Given the description of an element on the screen output the (x, y) to click on. 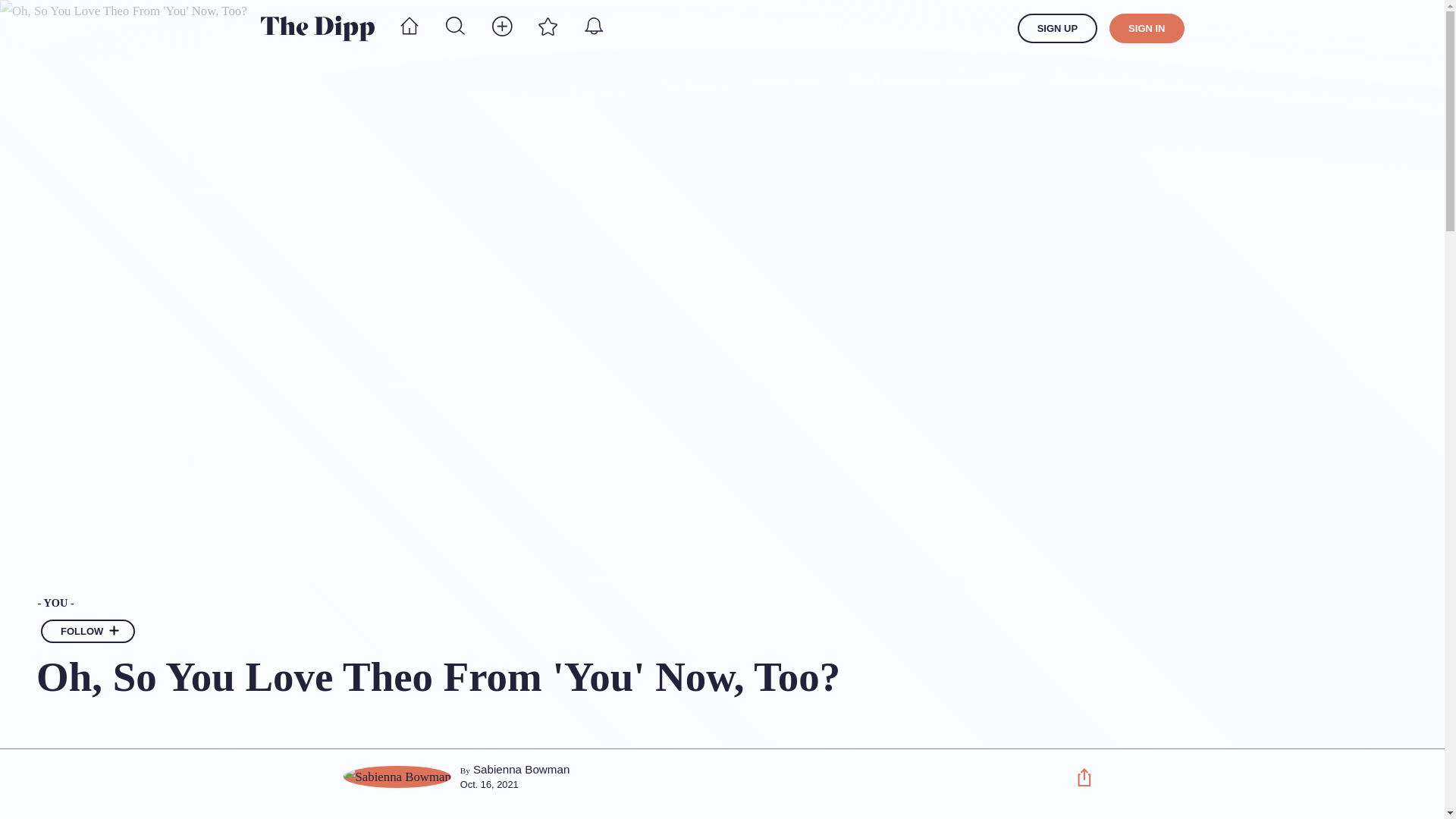
FOLLOW (87, 631)
Follow (114, 631)
Dipp (317, 28)
- YOU - (542, 603)
SIGN IN (1146, 28)
Sabienna Bowman (521, 768)
SIGN UP (1057, 28)
